Given the description of an element on the screen output the (x, y) to click on. 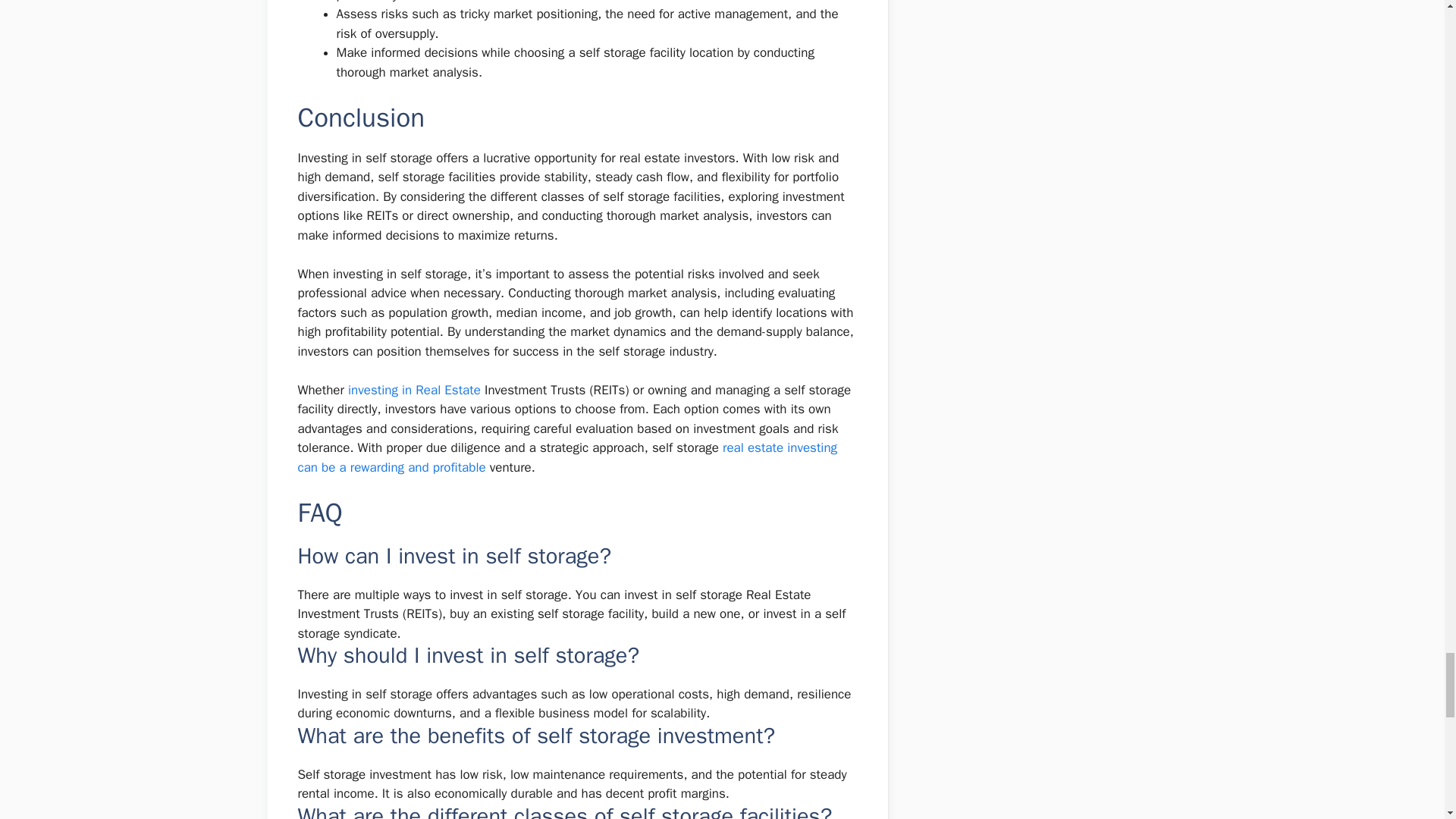
investing in Real Estate (413, 390)
real estate investing can be a rewarding and profitable (567, 457)
